Given the description of an element on the screen output the (x, y) to click on. 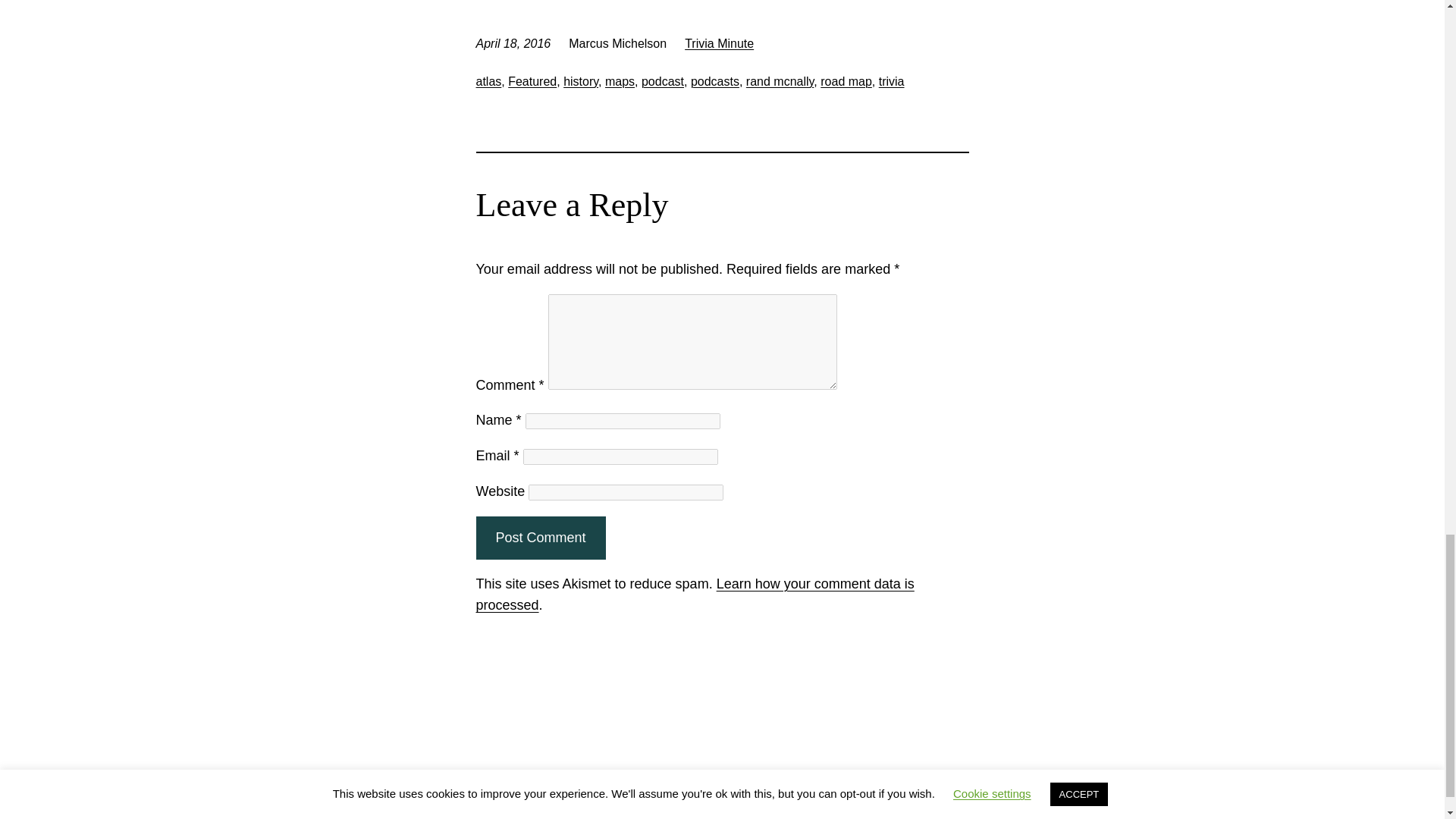
Learn how your comment data is processed (695, 594)
Featured (532, 81)
Post Comment (540, 537)
Trivia Minute (719, 42)
podcast (663, 81)
rand mcnally (779, 81)
atlas (489, 81)
Post Comment (540, 537)
road map (846, 81)
podcasts (714, 81)
trivia (891, 81)
maps (619, 81)
WordPress (1067, 790)
TriviaPeople.com (394, 790)
history (580, 81)
